Given the description of an element on the screen output the (x, y) to click on. 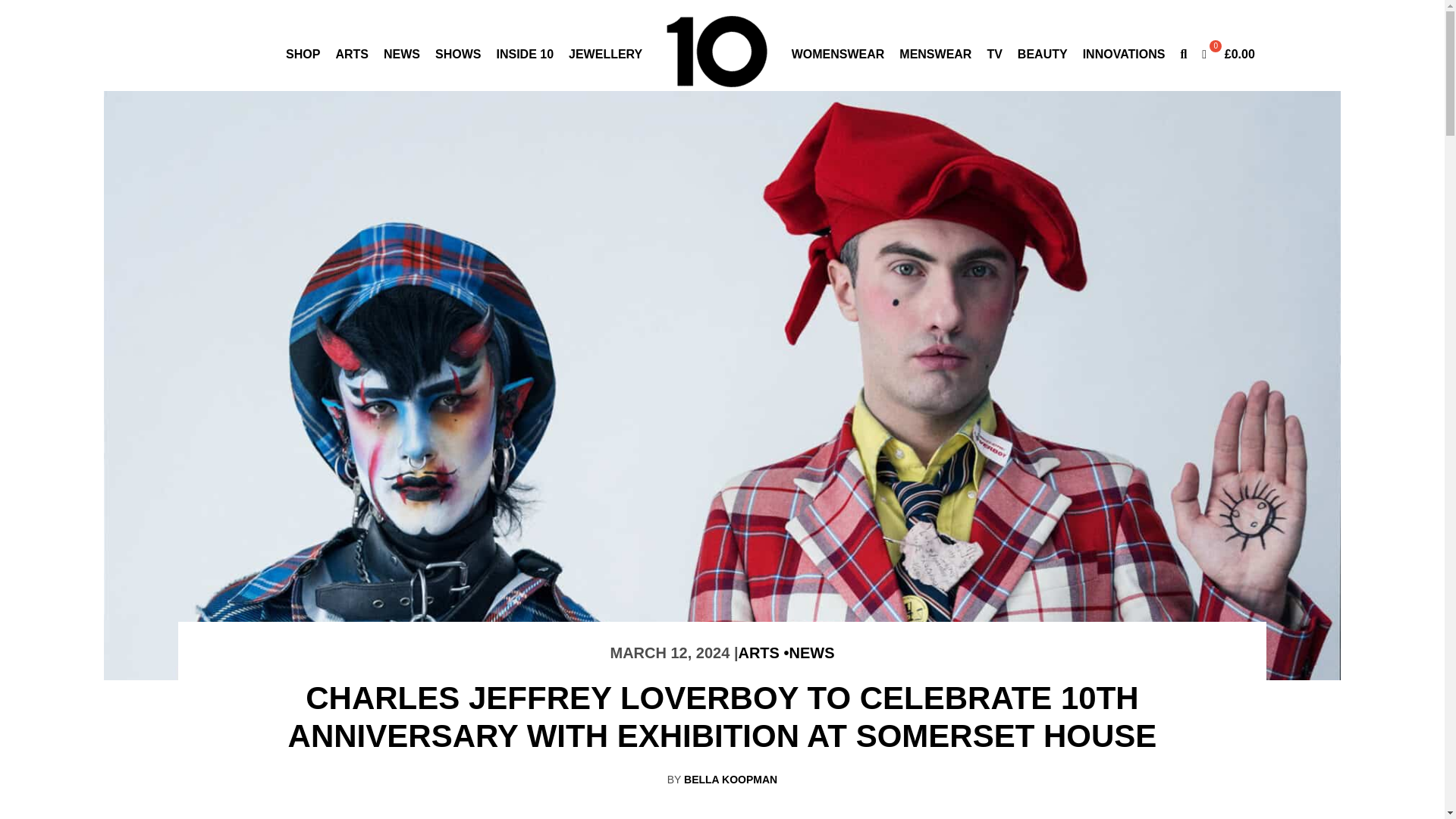
BELLA KOOPMAN (730, 779)
SHOP (302, 53)
ARTS (351, 53)
SHOWS (457, 53)
TV (994, 53)
ARTS (763, 652)
MENSWEAR (935, 53)
BEAUTY (1042, 53)
NEWS (811, 652)
WOMENSWEAR (838, 53)
